Given the description of an element on the screen output the (x, y) to click on. 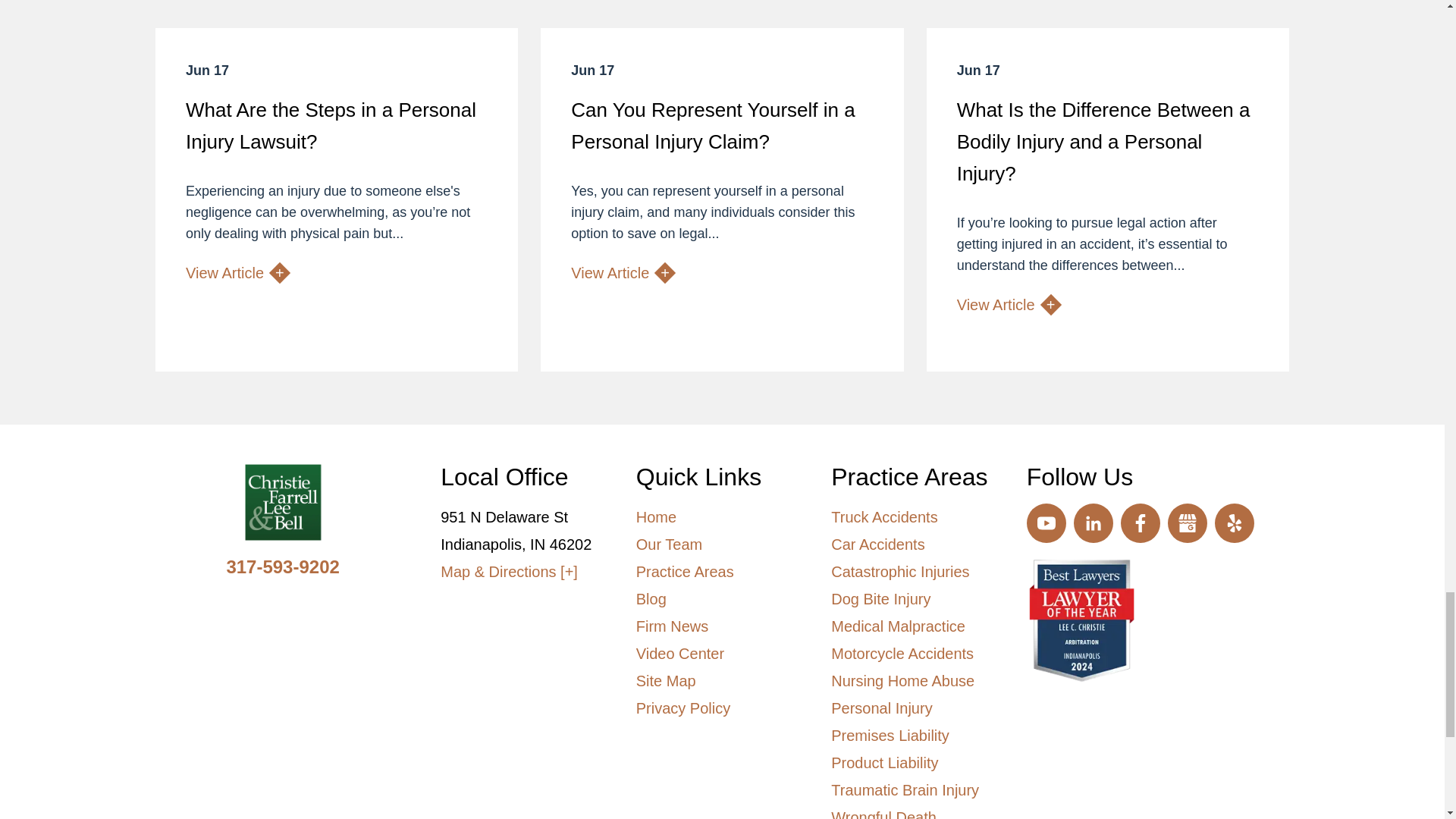
Follow Us on YouTube (1045, 522)
Follow Us on Yelp (1233, 522)
Follow Us on Facebook (1140, 522)
Call Us Today (282, 566)
What Are the Steps in a Personal Injury Lawsuit? (336, 199)
Follow Us on LinkedIn (1093, 522)
Follow Us on Google Business (1187, 522)
Can You Represent Yourself in a Personal Injury Claim? (721, 199)
